Given the description of an element on the screen output the (x, y) to click on. 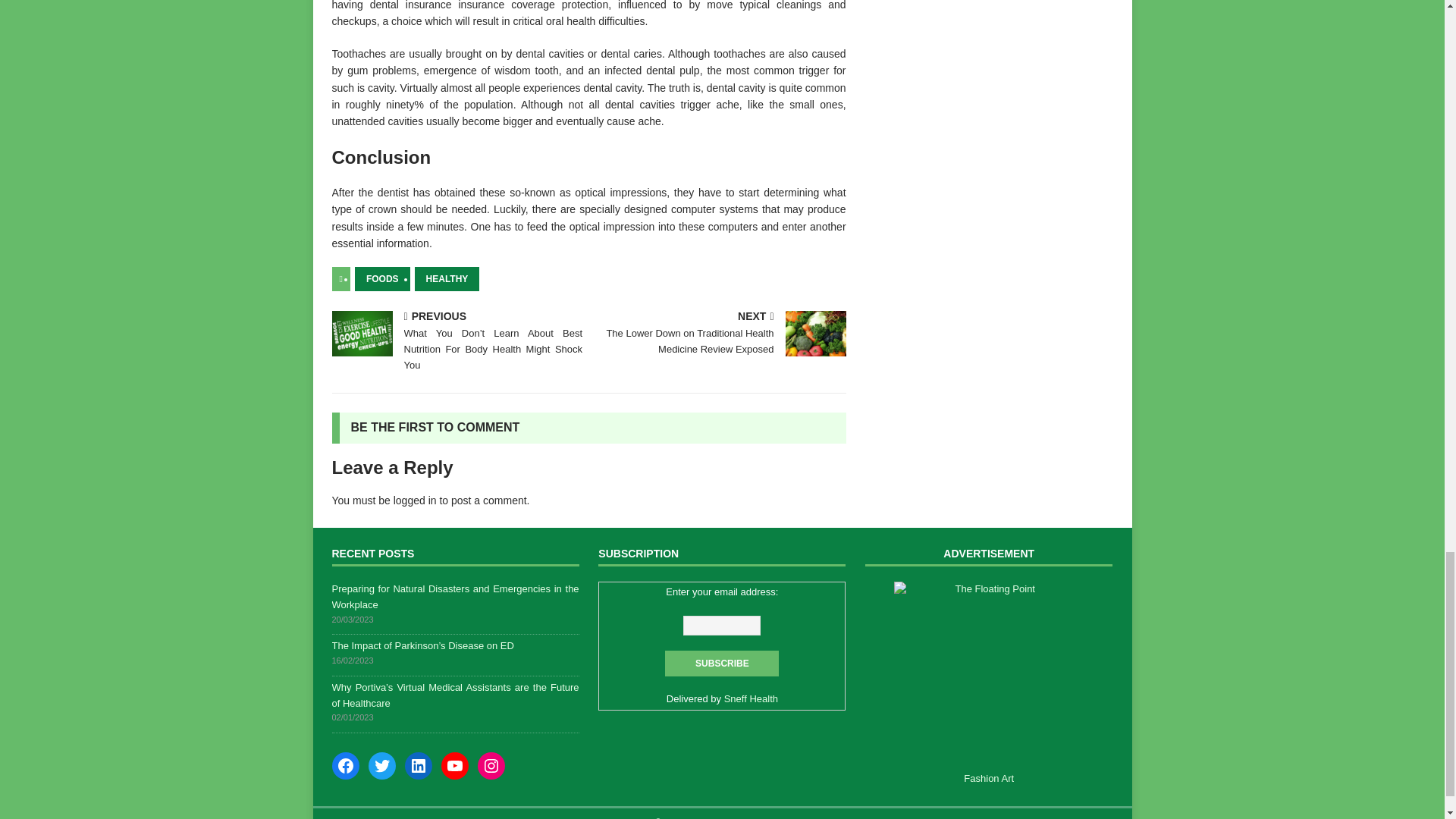
The Lower Down on Traditional Health Medicine Review Exposed (815, 333)
HEALTHY (447, 278)
logged in (414, 500)
Subscribe (721, 663)
FOODS (382, 278)
